Given the description of an element on the screen output the (x, y) to click on. 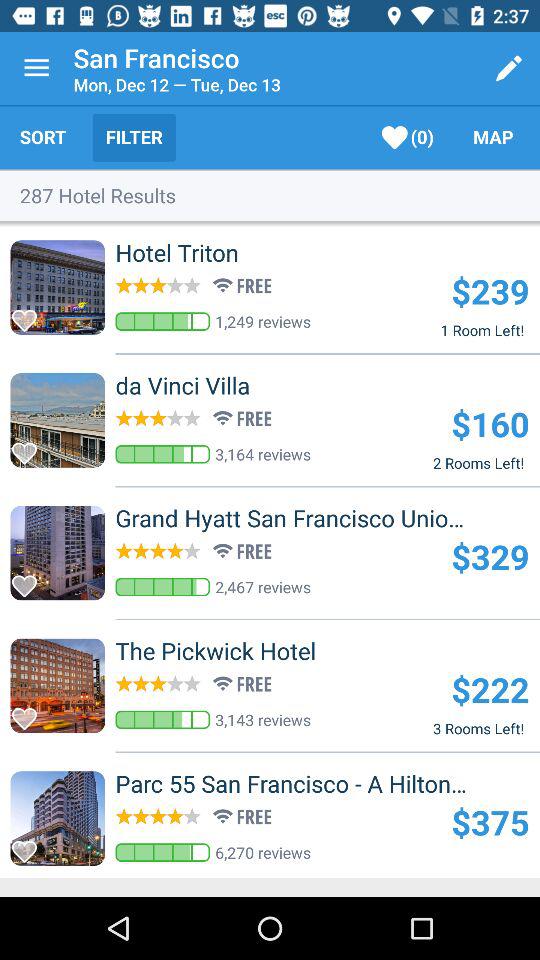
tap $329 (490, 556)
